Given the description of an element on the screen output the (x, y) to click on. 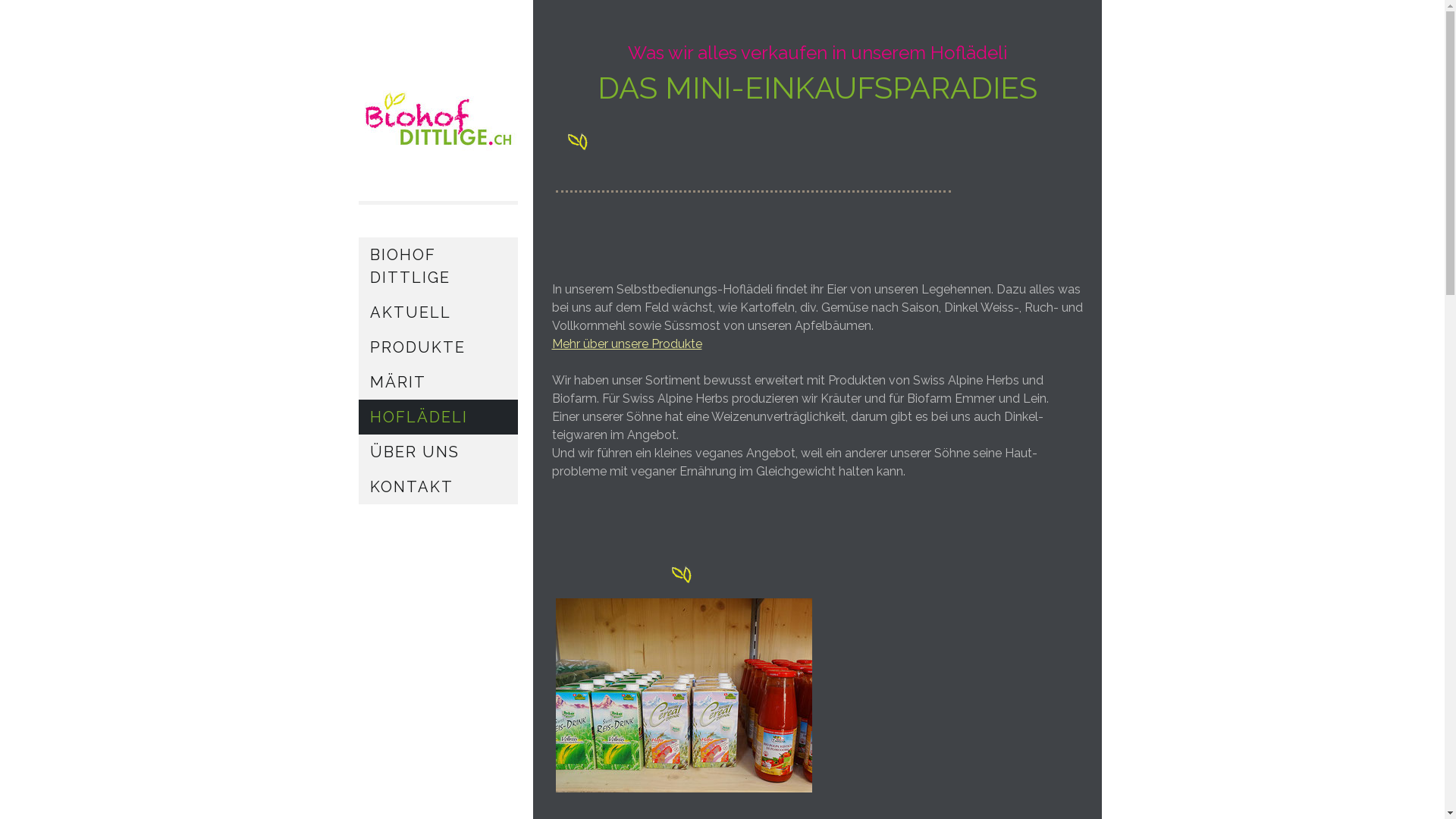
KONTAKT Element type: text (437, 486)
AKTUELL Element type: text (437, 311)
PRODUKTE Element type: text (437, 346)
BIOHOF DITTLIGE Element type: text (437, 265)
